Given the description of an element on the screen output the (x, y) to click on. 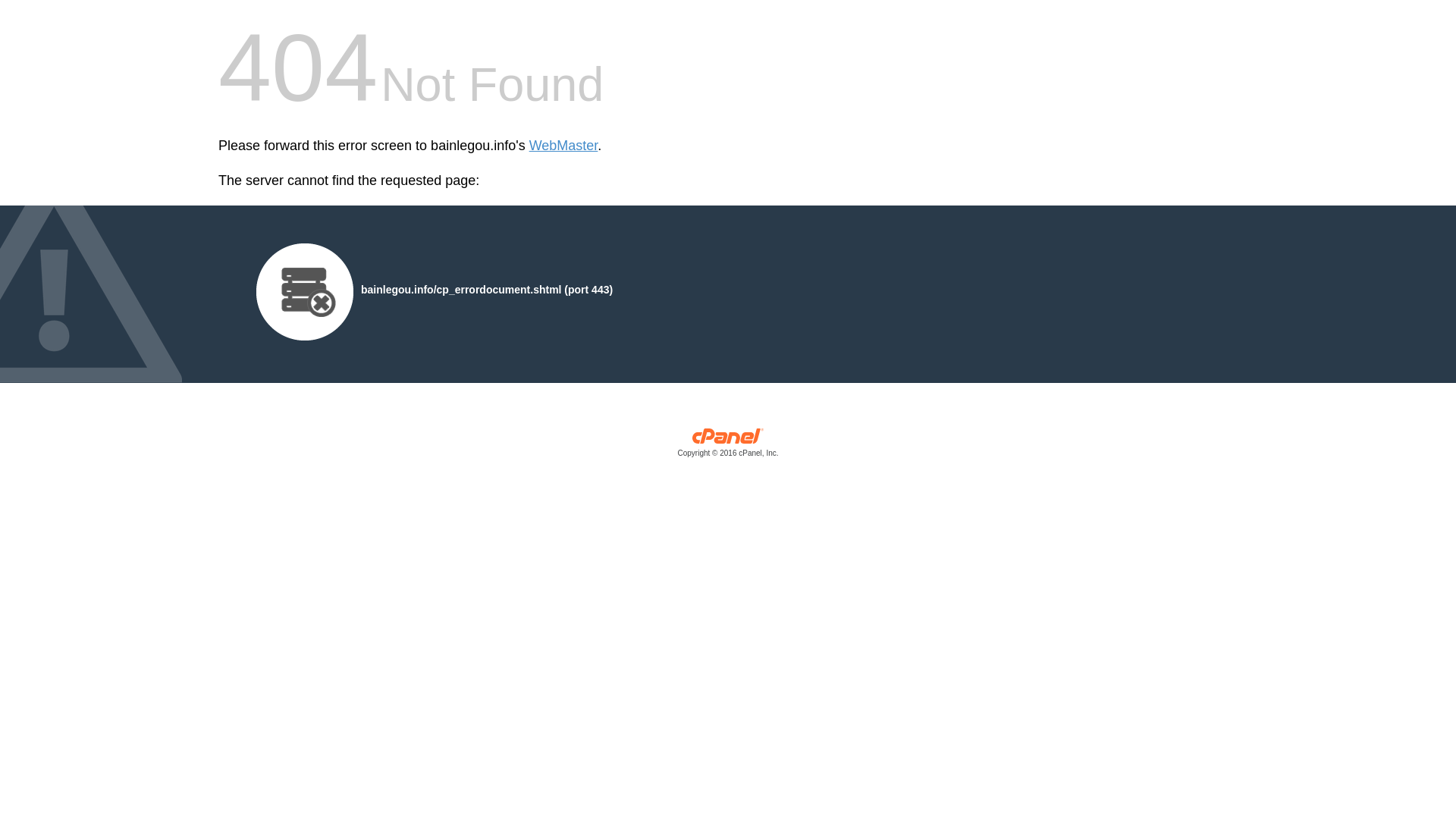
cPanel, Inc. (727, 446)
WebMaster (563, 145)
